Given the description of an element on the screen output the (x, y) to click on. 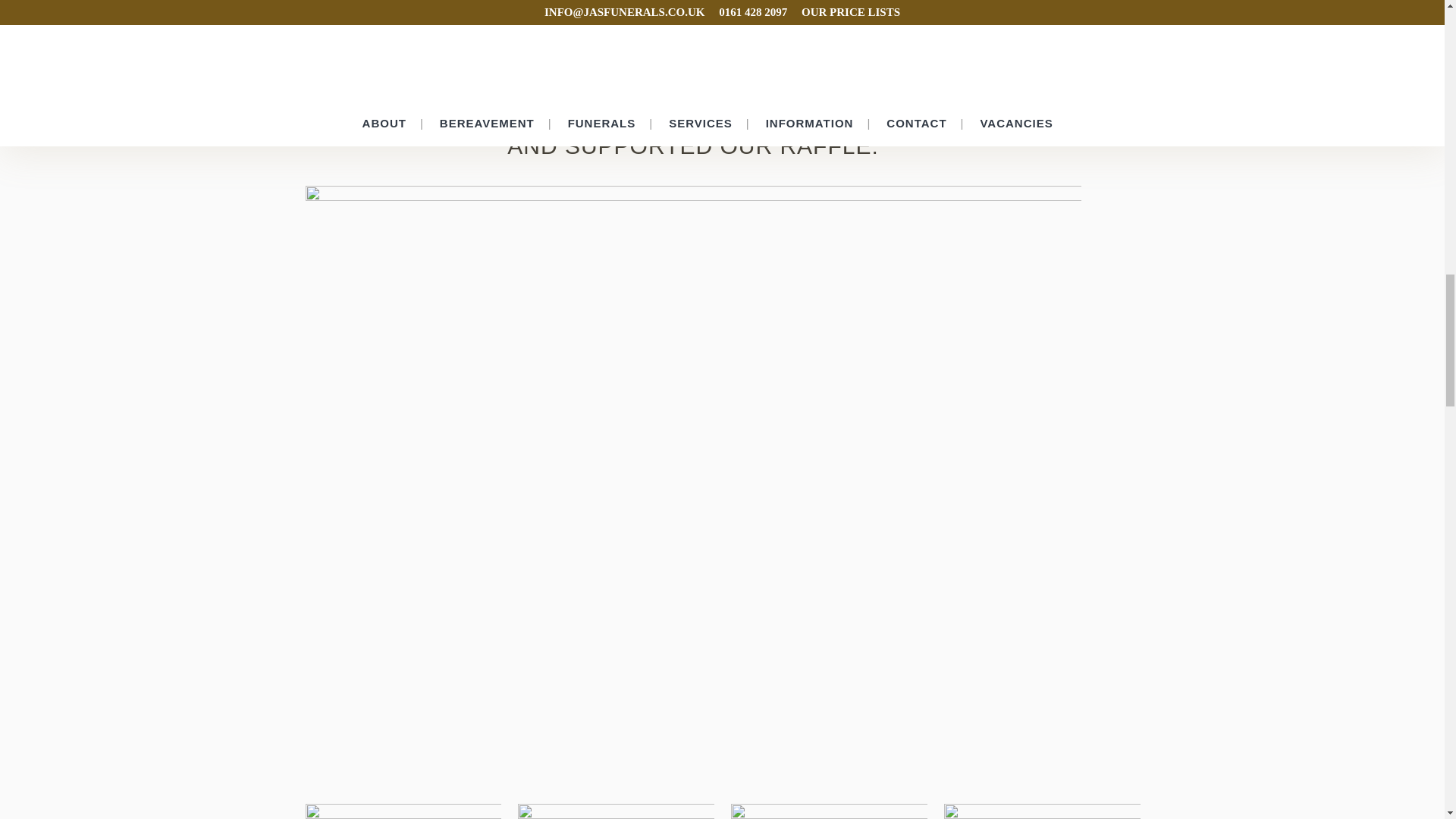
Chris and Anthony Parker and guests (403, 811)
Guests and time line 2 (829, 811)
Coffin Boffins (616, 811)
Guests (1042, 811)
